Given the description of an element on the screen output the (x, y) to click on. 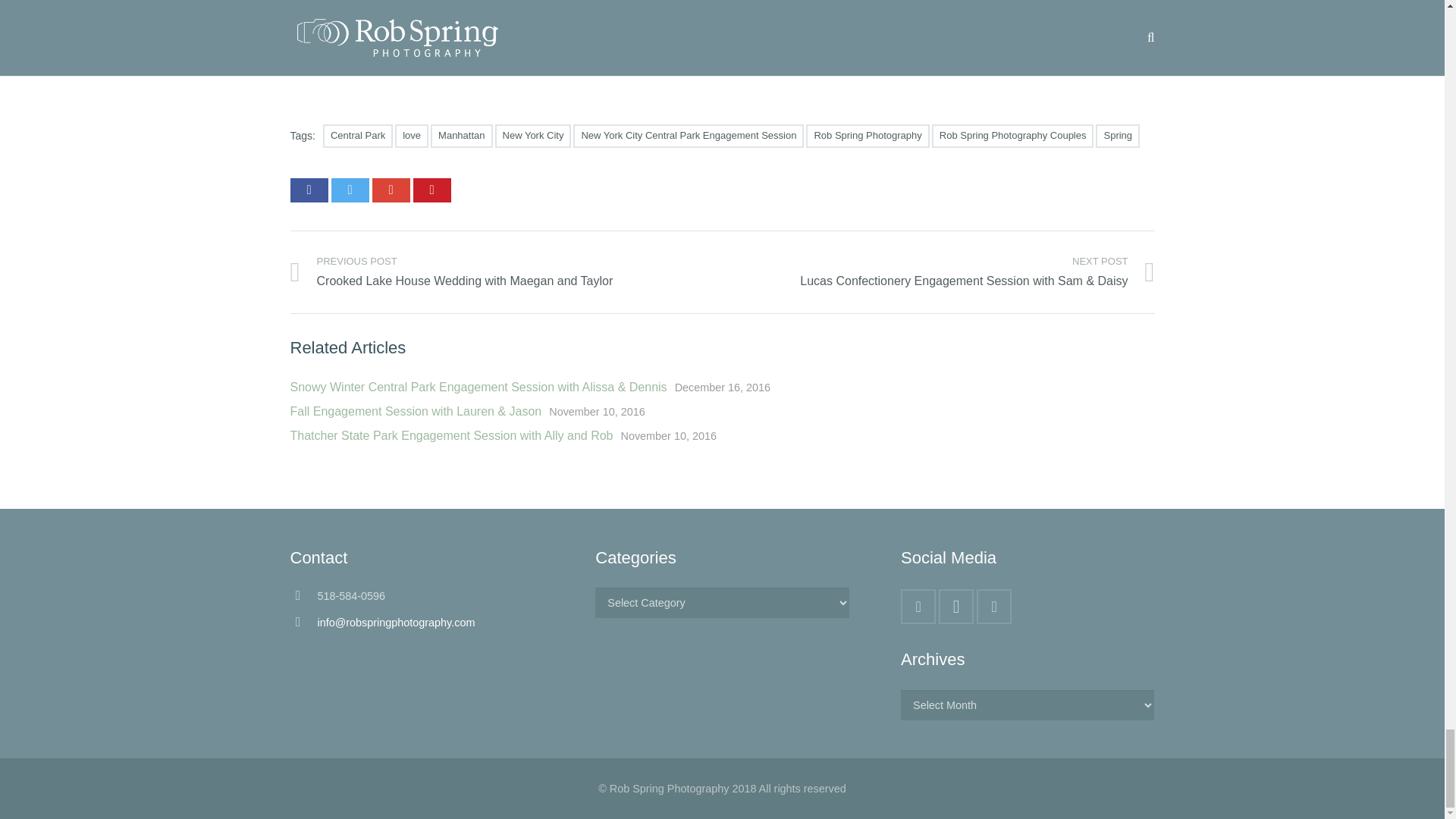
love (411, 136)
Share this (308, 190)
Share this (390, 190)
Tweet this (349, 190)
New York City (533, 136)
Manhattan (461, 136)
New York City Central Park Engagement Session (688, 136)
Pin this (430, 190)
Central Park (358, 136)
